Given the description of an element on the screen output the (x, y) to click on. 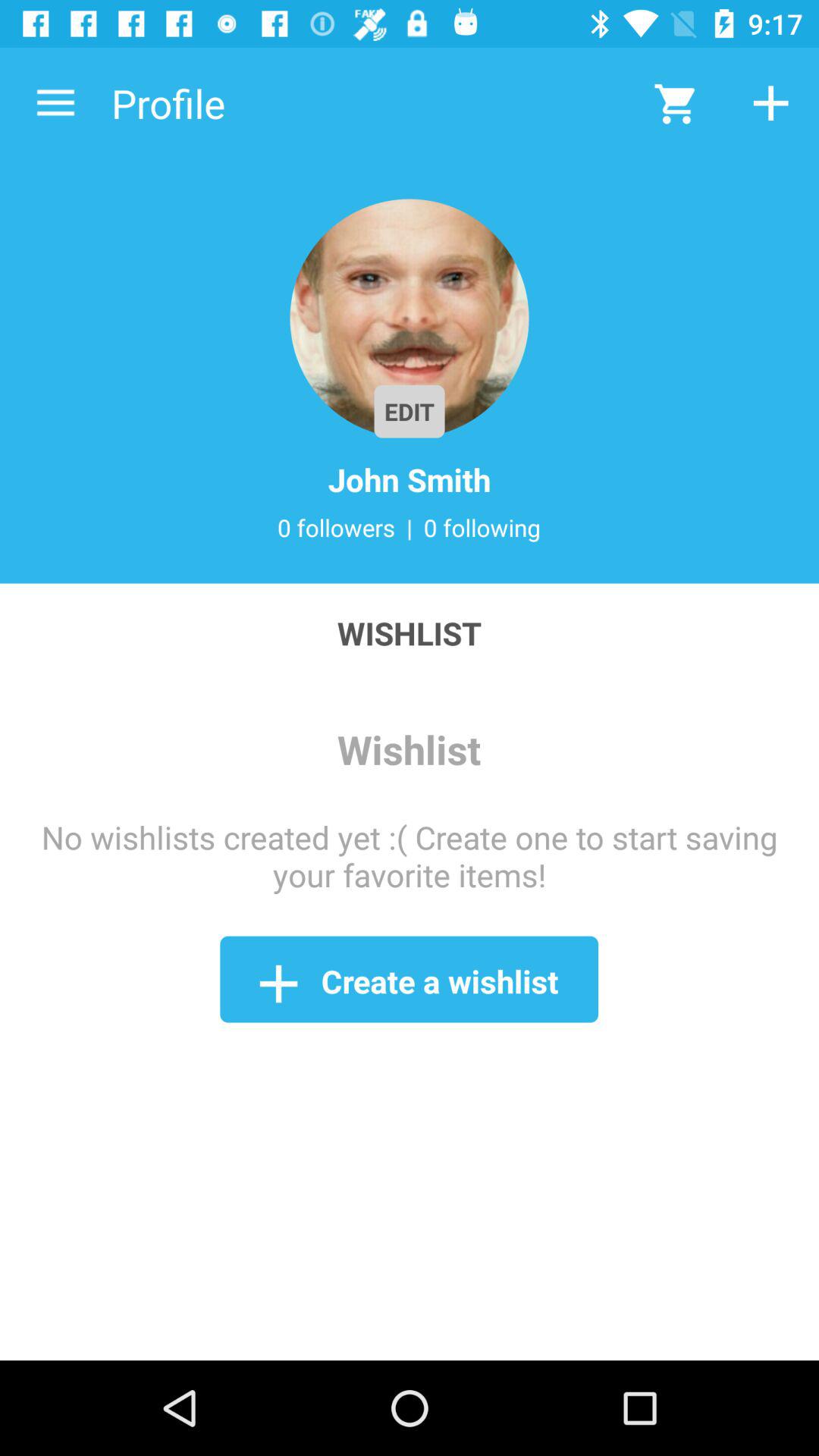
turn off icon next to the   | (481, 527)
